Given the description of an element on the screen output the (x, y) to click on. 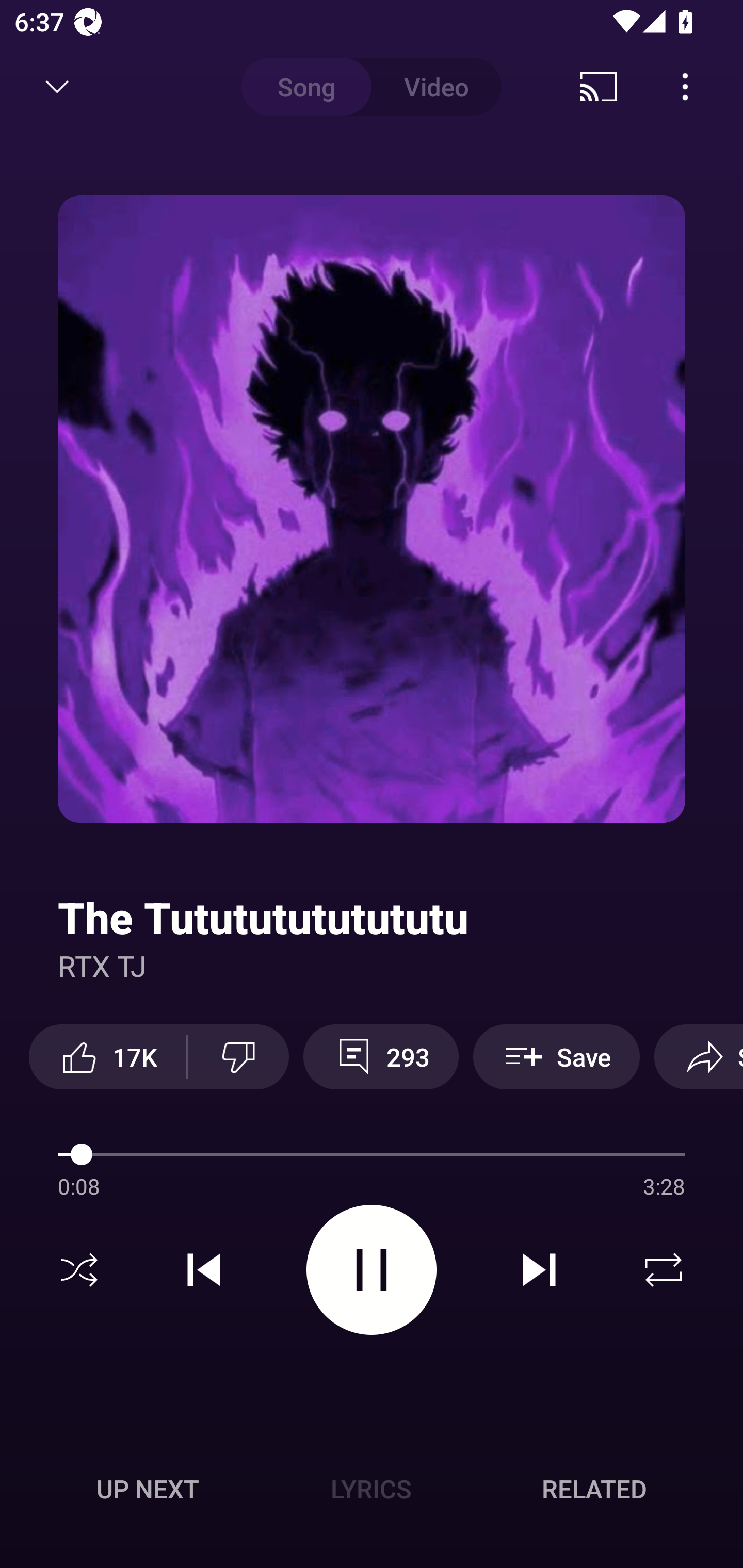
Minimize (57, 86)
Cast. Disconnected (598, 86)
Menu (684, 86)
17K like this video along with 17,364 other people (106, 1056)
Dislike (238, 1056)
293 View 293 comments (380, 1056)
Save Save to playlist (556, 1056)
Share (698, 1056)
Pause video (371, 1269)
Shuffle off (79, 1269)
Previous track (203, 1269)
Next track (538, 1269)
Repeat off (663, 1269)
Up next UP NEXT Lyrics LYRICS Related RELATED (371, 1491)
Lyrics LYRICS (370, 1488)
Related RELATED (594, 1488)
